Given the description of an element on the screen output the (x, y) to click on. 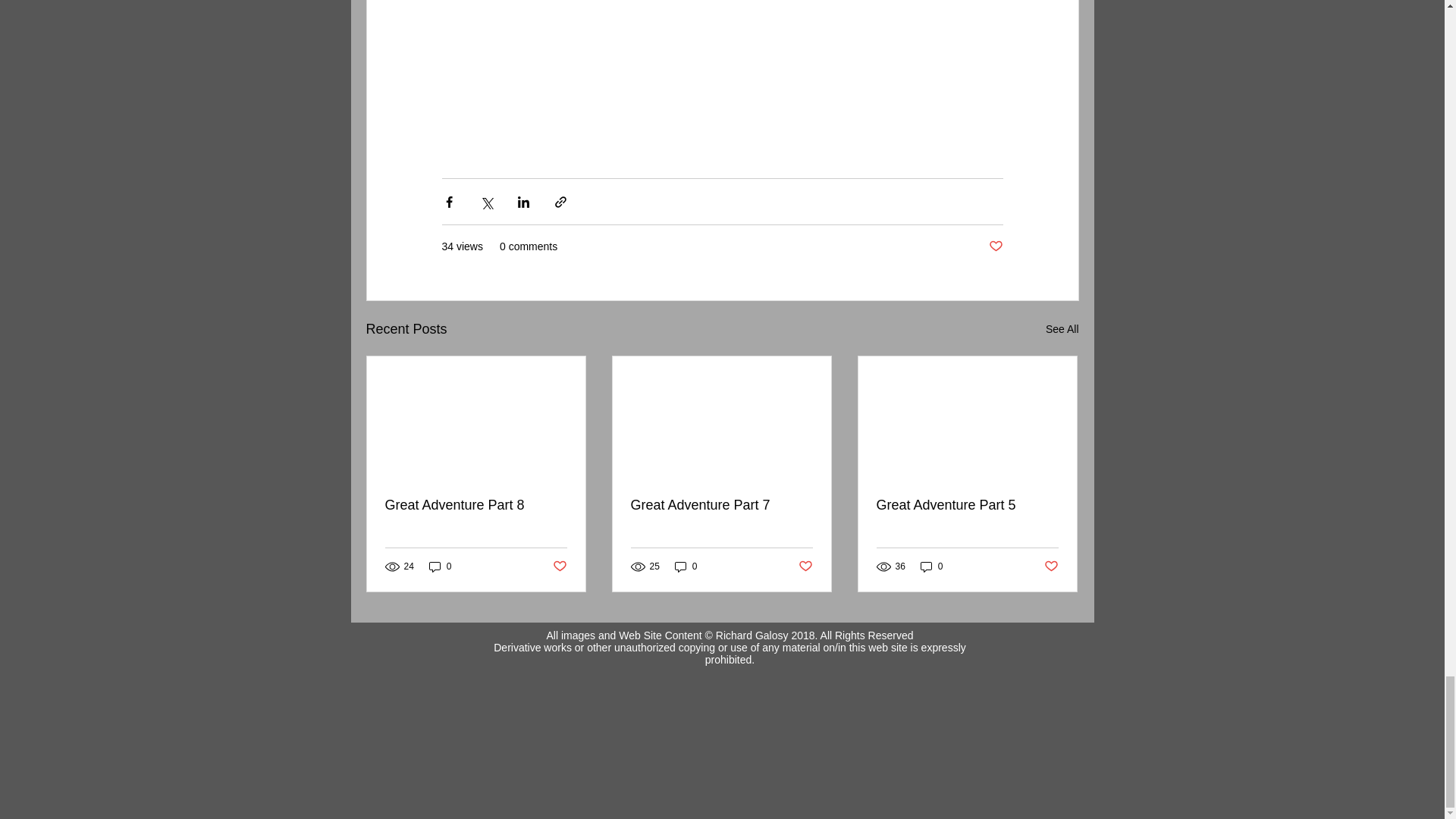
See All (1061, 329)
Post not marked as liked (558, 566)
Post not marked as liked (804, 566)
Great Adventure Part 7 (721, 505)
Great Adventure Part 5 (967, 505)
0 (931, 565)
Post not marked as liked (1050, 566)
Great Adventure Part 8 (476, 505)
0 (440, 565)
0 (685, 565)
Post not marked as liked (995, 246)
